Given the description of an element on the screen output the (x, y) to click on. 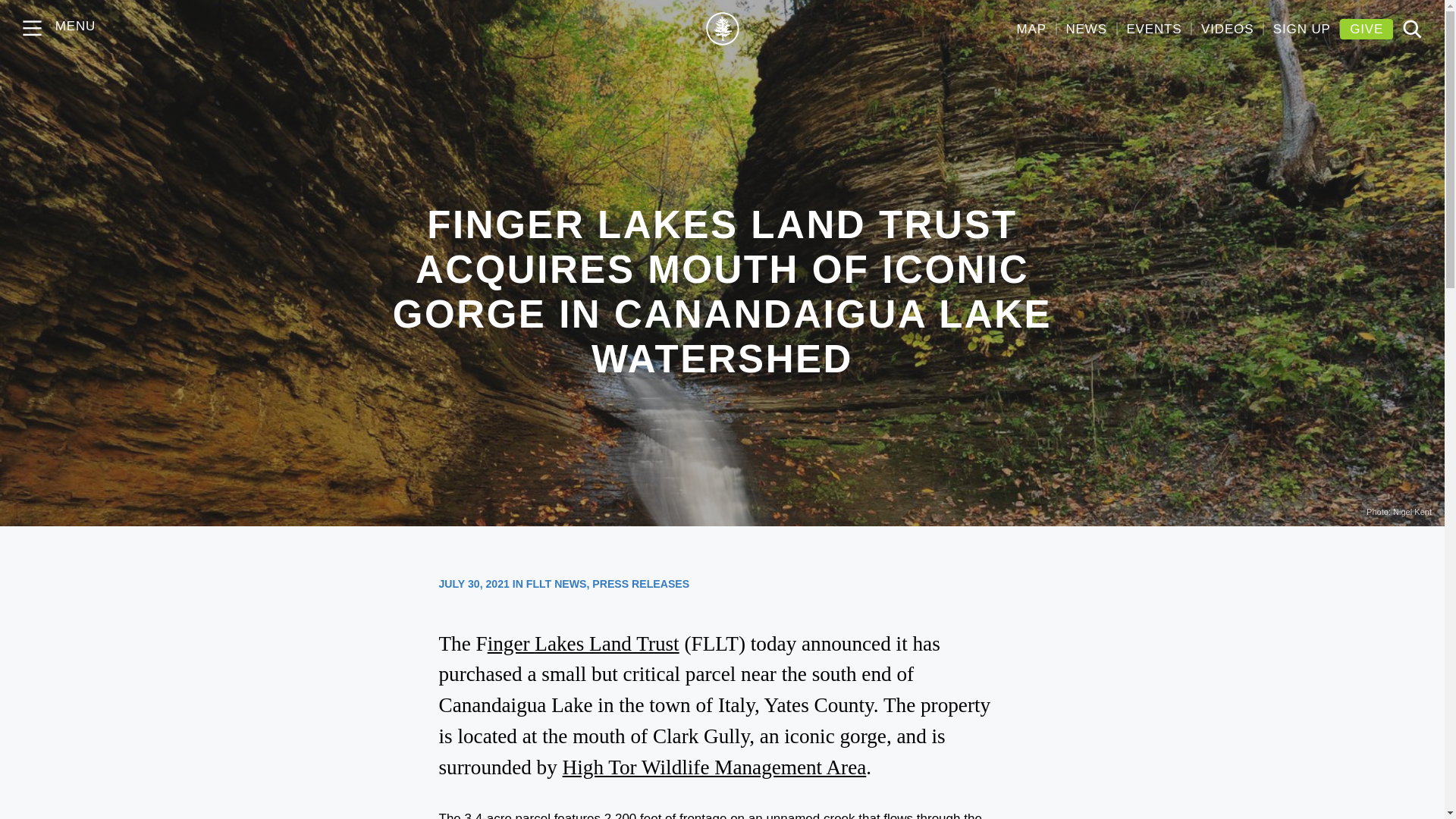
GIVE (1366, 28)
Finger Lakes Land Trust (721, 28)
VIDEOS (1227, 28)
NEWS (1085, 28)
Sign up for FLLT newsletter (1301, 28)
PRESS RELEASES (640, 583)
Give to FLLT (1366, 28)
FLLT NEWS (555, 583)
SIGN UP (1301, 28)
Events (1227, 28)
Events (1152, 28)
See our Preserves (1031, 28)
Search the Site (1412, 28)
inger Lakes Land Trust (583, 643)
EVENTS (1152, 28)
